Given the description of an element on the screen output the (x, y) to click on. 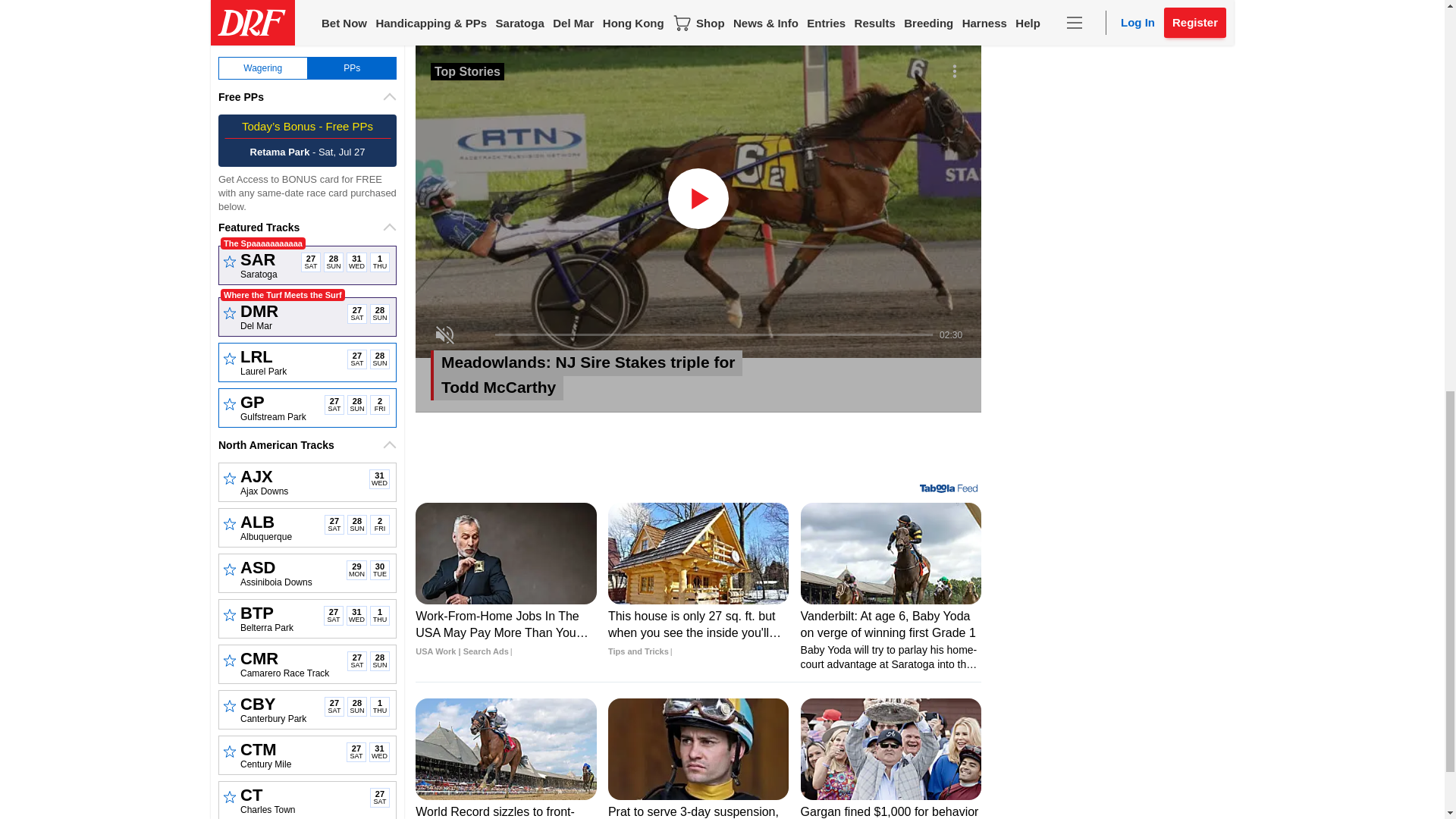
Work-From-Home Jobs In The USA May Pay More Than You Think (638, 375)
Meadowlands:  NJ Sire Stakes triple for Todd McCarthy (504, 553)
Work-From-Home Jobs In The USA May Pay More Than You Think (638, 375)
3rd party ad content (504, 634)
